Given the description of an element on the screen output the (x, y) to click on. 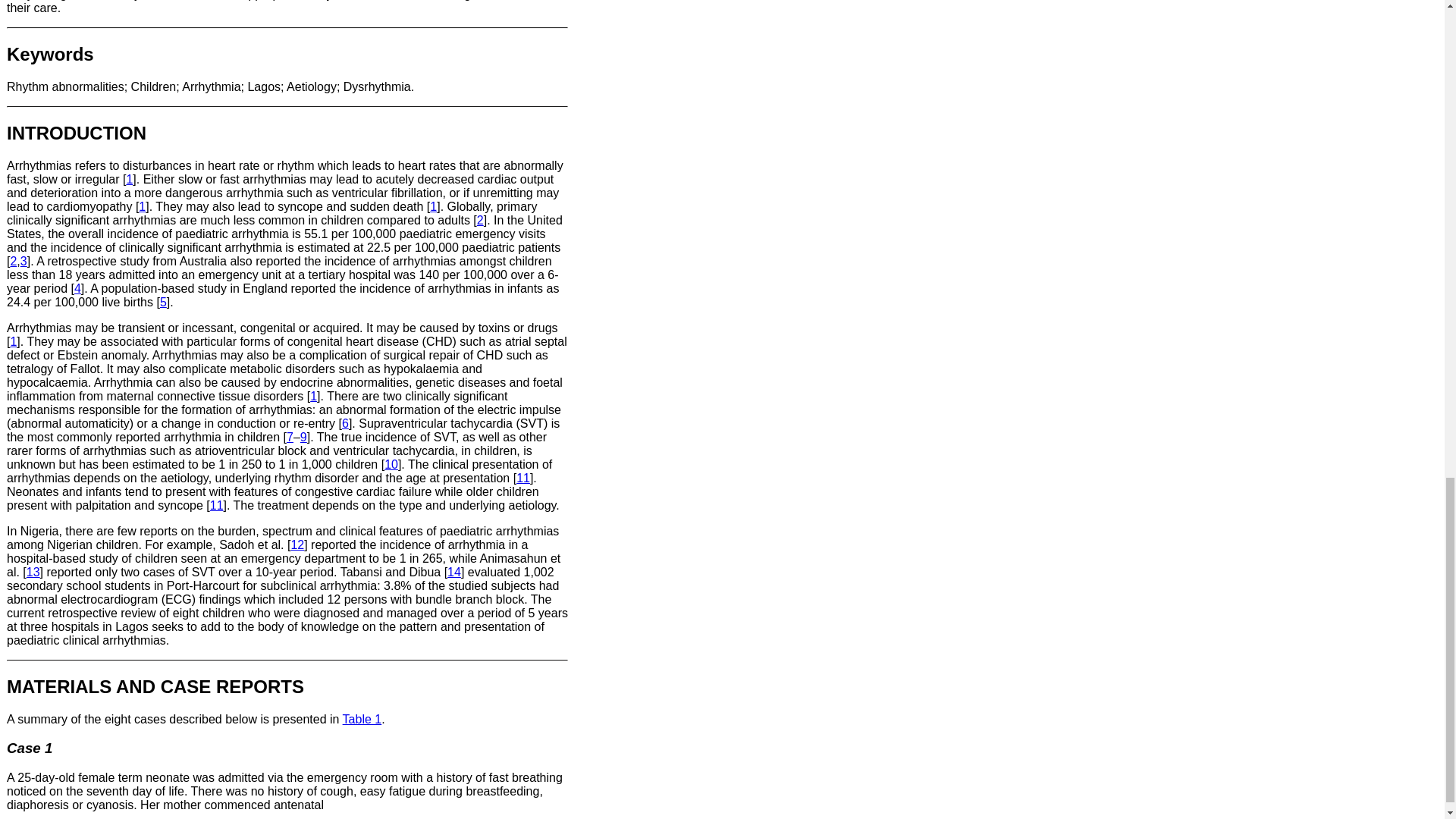
1 (141, 205)
1 (128, 178)
2 (13, 260)
2 (480, 219)
1 (432, 205)
3 (23, 260)
5 (163, 301)
4 (77, 287)
